Given the description of an element on the screen output the (x, y) to click on. 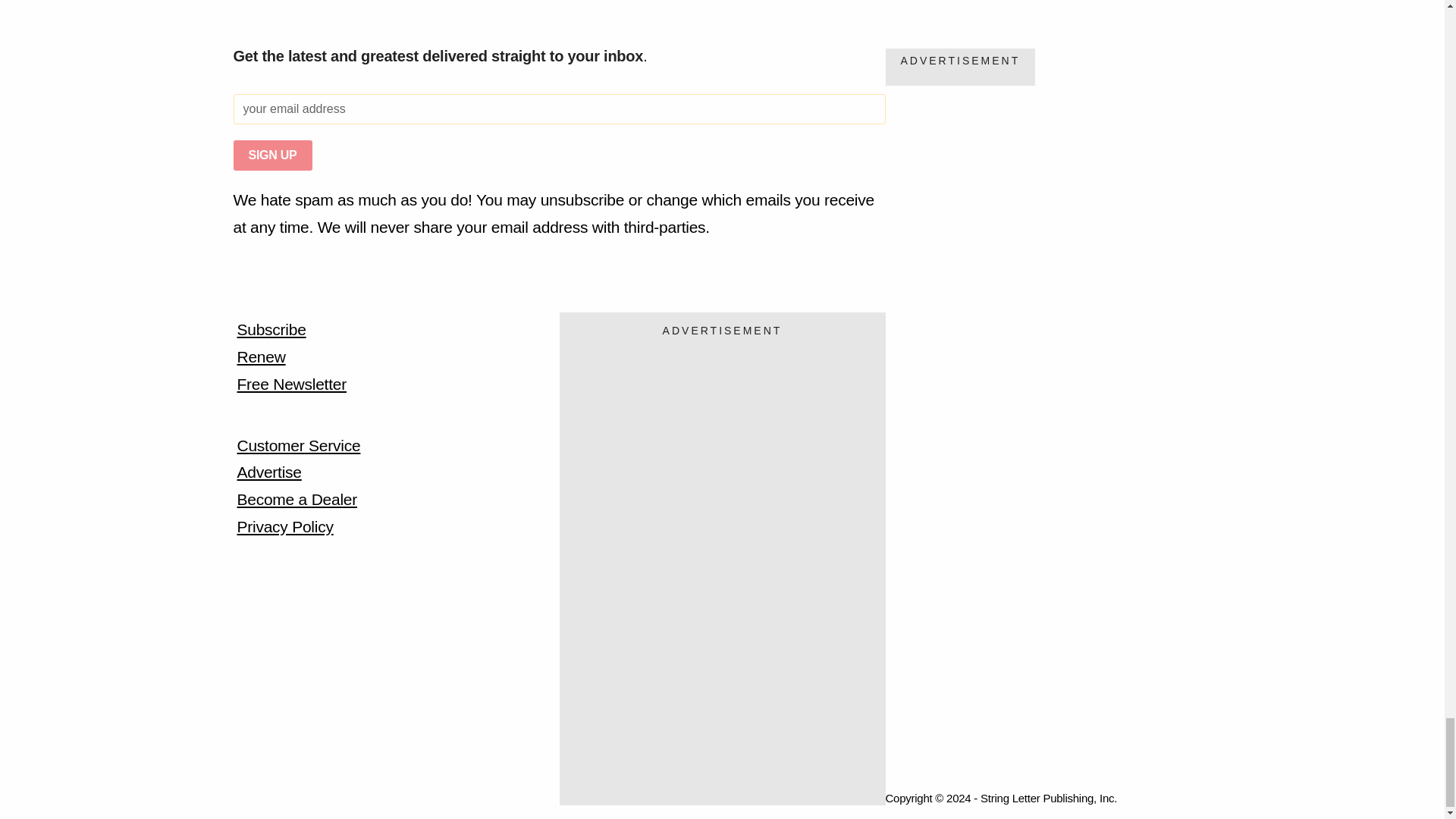
your email address (558, 109)
